Given the description of an element on the screen output the (x, y) to click on. 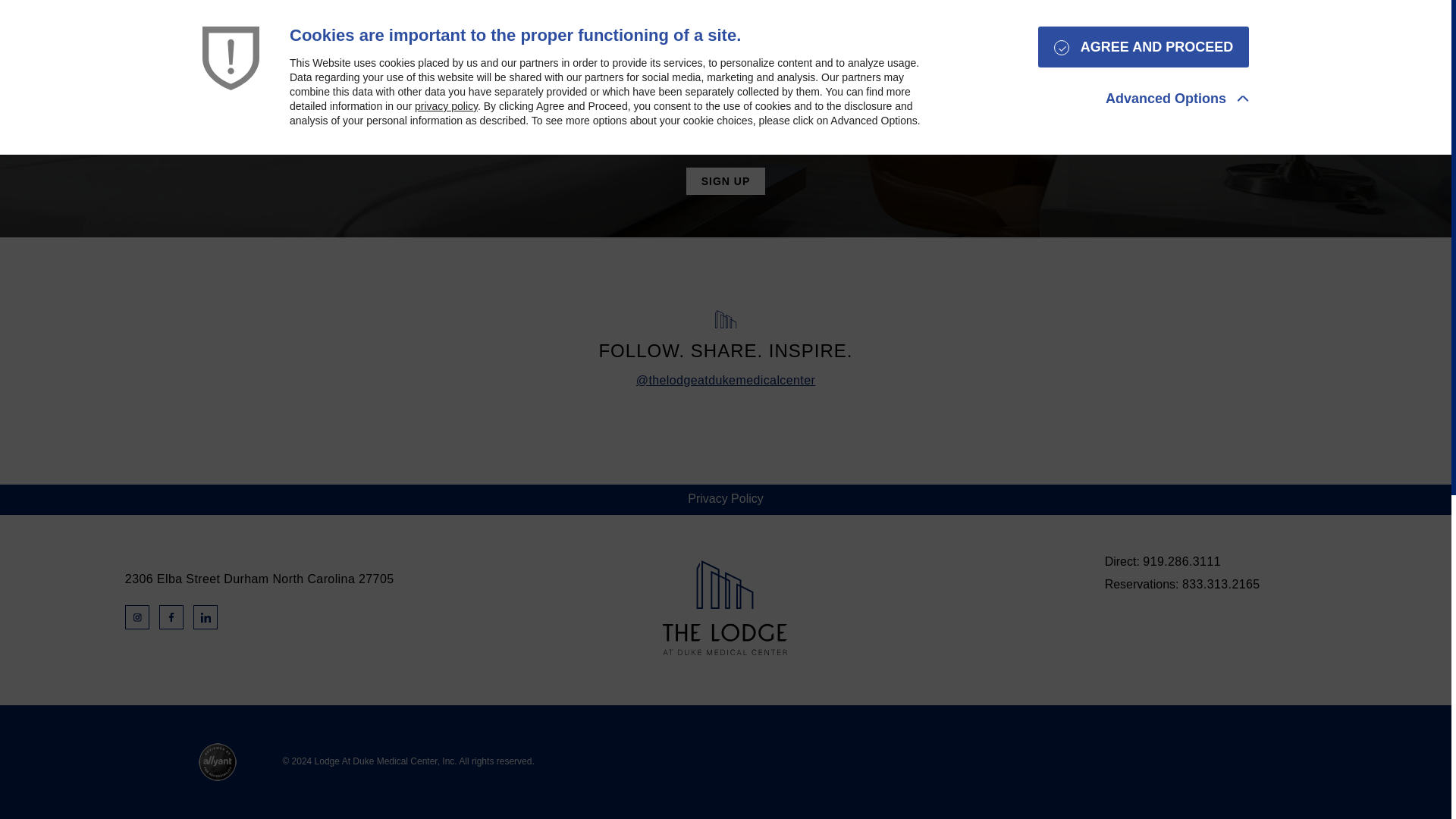
true (661, 146)
New Fieldset... (725, 130)
Sign Up (725, 180)
Email (761, 112)
